Given the description of an element on the screen output the (x, y) to click on. 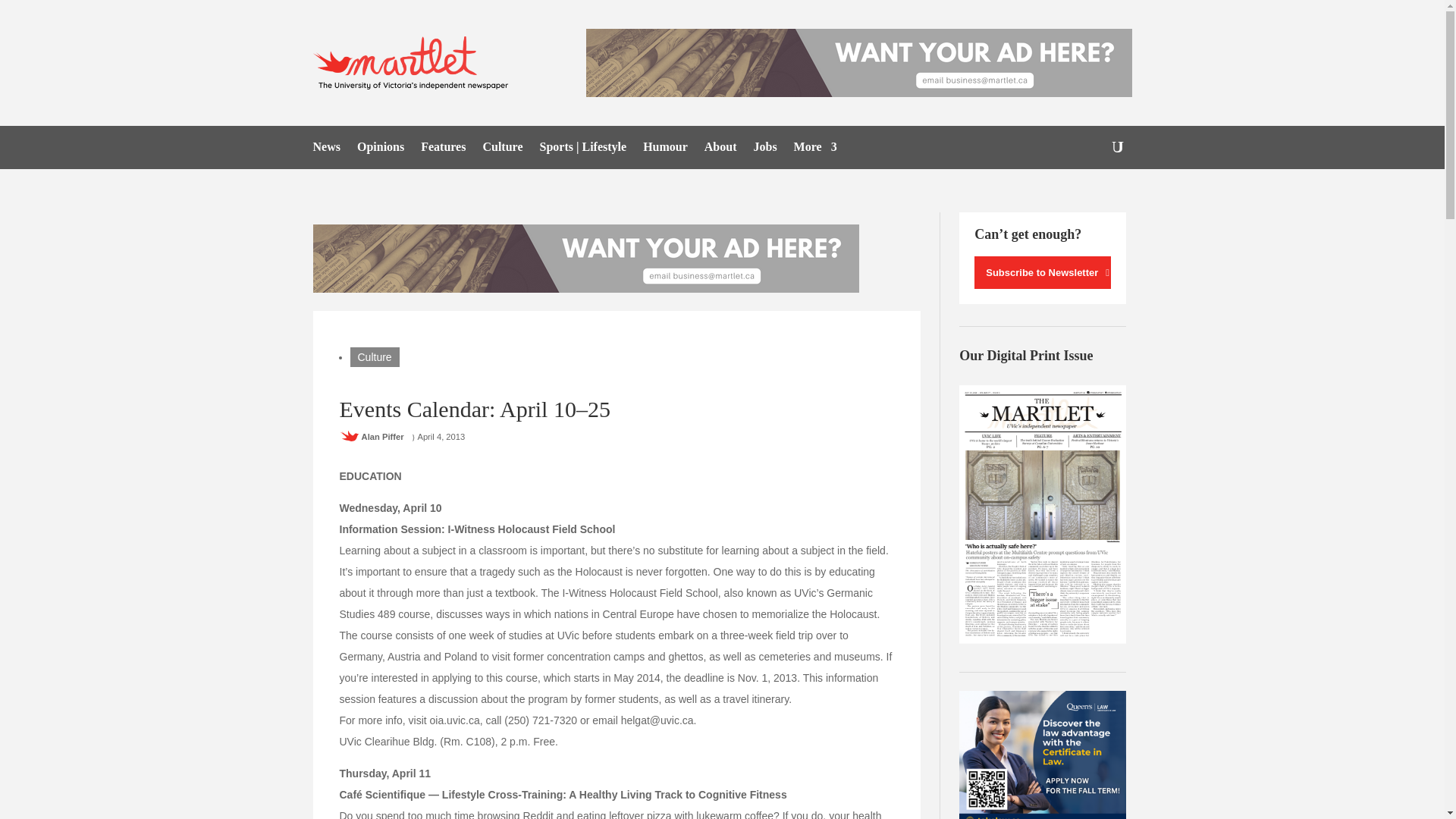
martlet-logo-2022 (414, 63)
More (815, 150)
Subscribe to Newsletter (1042, 272)
Culture (374, 356)
Opinions (380, 150)
Features (442, 150)
Culture (501, 150)
About (720, 150)
Jobs (764, 150)
News (326, 150)
Humour (665, 150)
